Given the description of an element on the screen output the (x, y) to click on. 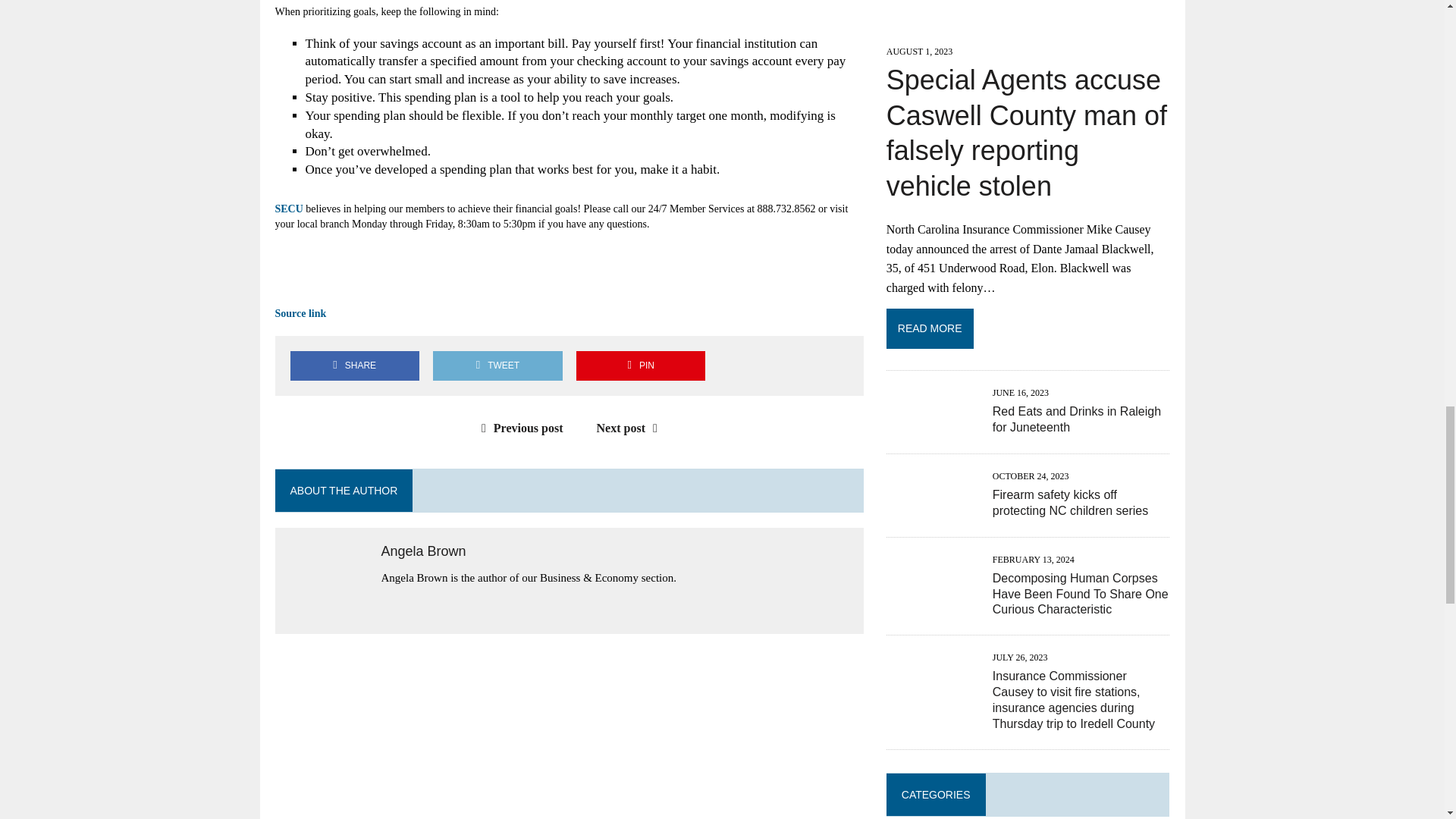
Share on Facebook (354, 365)
Pin This Post (640, 365)
Tweet This Post (497, 365)
